Given the description of an element on the screen output the (x, y) to click on. 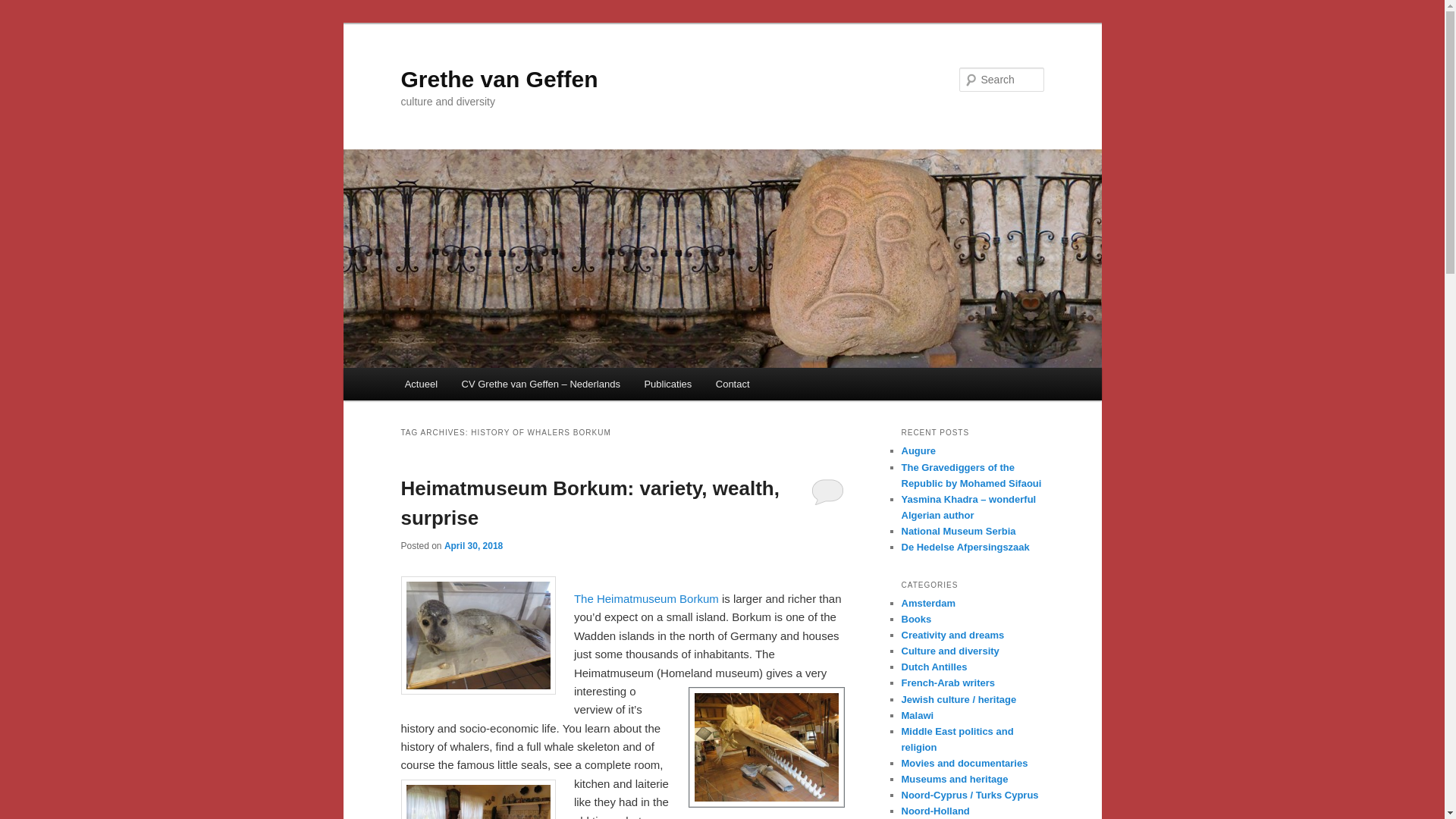
9:51 PM (473, 545)
Amsterdam (928, 603)
Books (916, 618)
Augure (918, 450)
Grethe van Geffen (498, 78)
Contact (732, 383)
Search (24, 8)
The Gravediggers of the Republic by Mohamed Sifaoui (971, 474)
April 30, 2018 (473, 545)
Heimatmuseum Borkum: variety, wealth, surprise (589, 502)
